Given the description of an element on the screen output the (x, y) to click on. 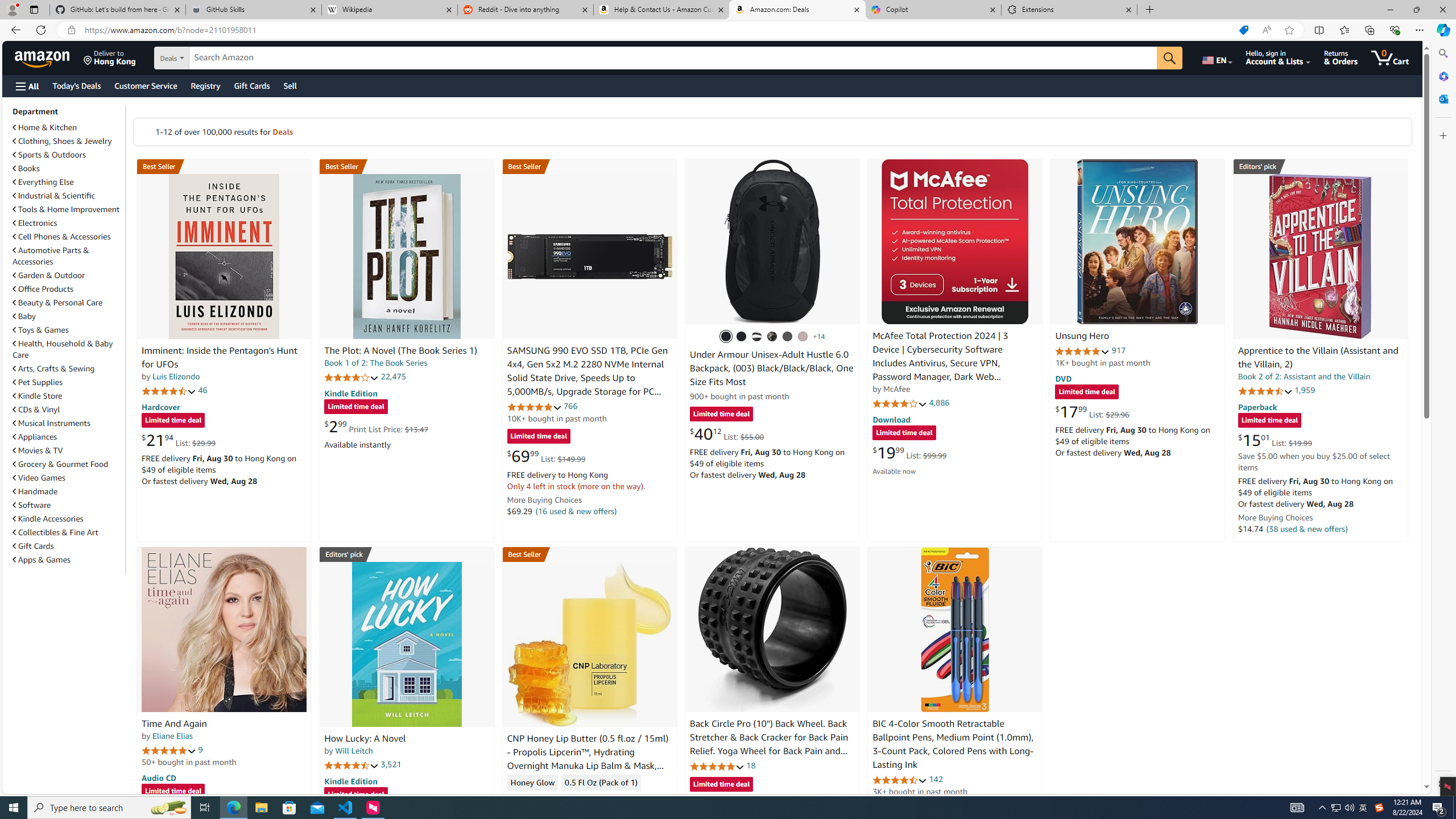
(003) Black / Black / Black (725, 336)
Luis Elizondo (175, 376)
Apprentice to the Villain (Assistant and the Villain, 2) (1319, 256)
Best Seller in Heist Thrillers (406, 165)
Video Games (67, 477)
Office Products (43, 289)
Pet Supplies (67, 382)
Books (26, 167)
4.7 out of 5 stars (168, 390)
$40.12 List: $55.00 (726, 433)
